Given the description of an element on the screen output the (x, y) to click on. 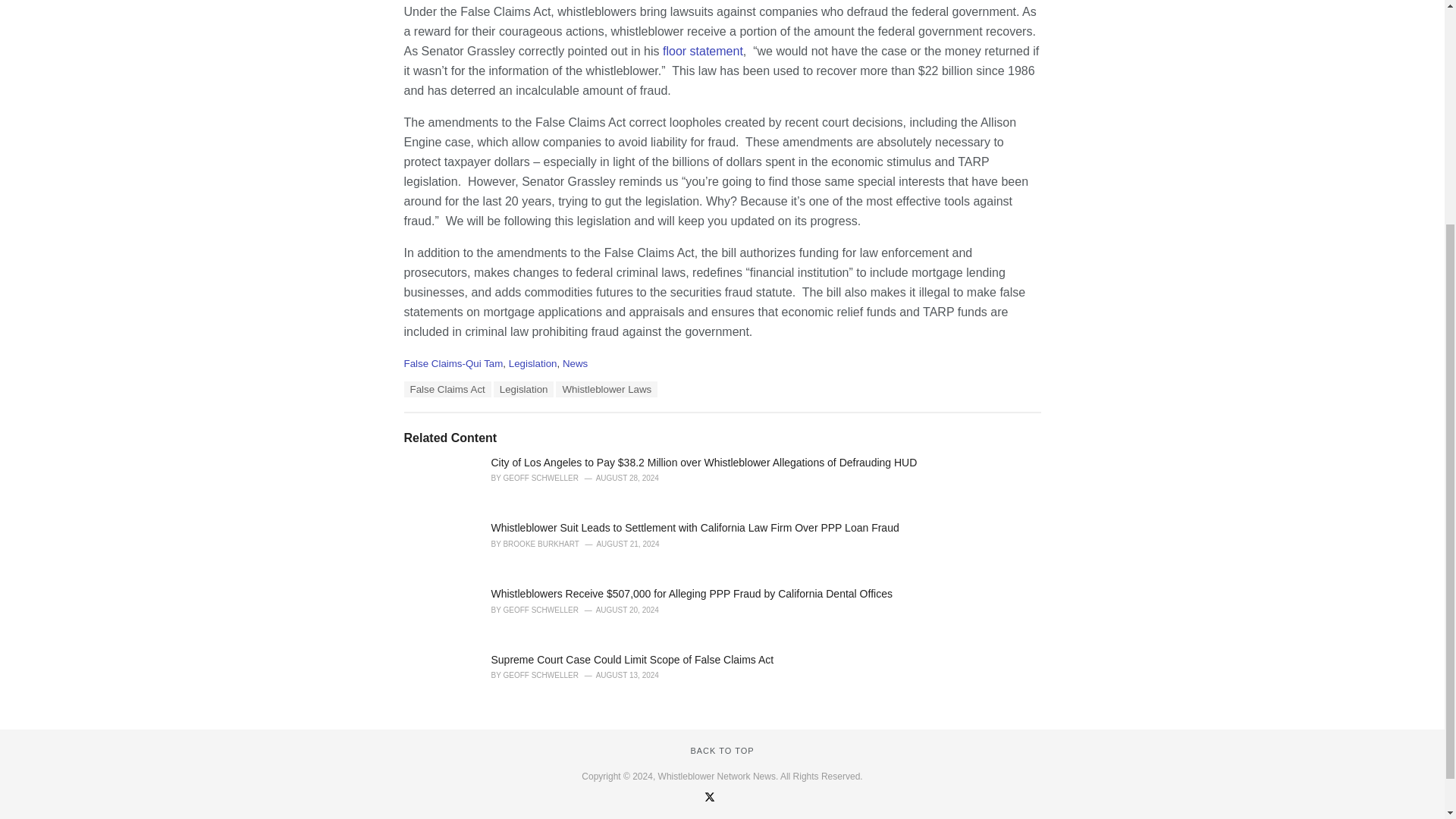
False Claims Act (446, 389)
Legislation (532, 363)
News (575, 363)
Legislation (523, 389)
False Claims-Qui Tam (452, 363)
floor statement (702, 51)
Supreme Court Case Could Limit Scope of False Claims Act (633, 659)
BACK TO TOP (722, 750)
Whistleblower Laws (607, 389)
